Given the description of an element on the screen output the (x, y) to click on. 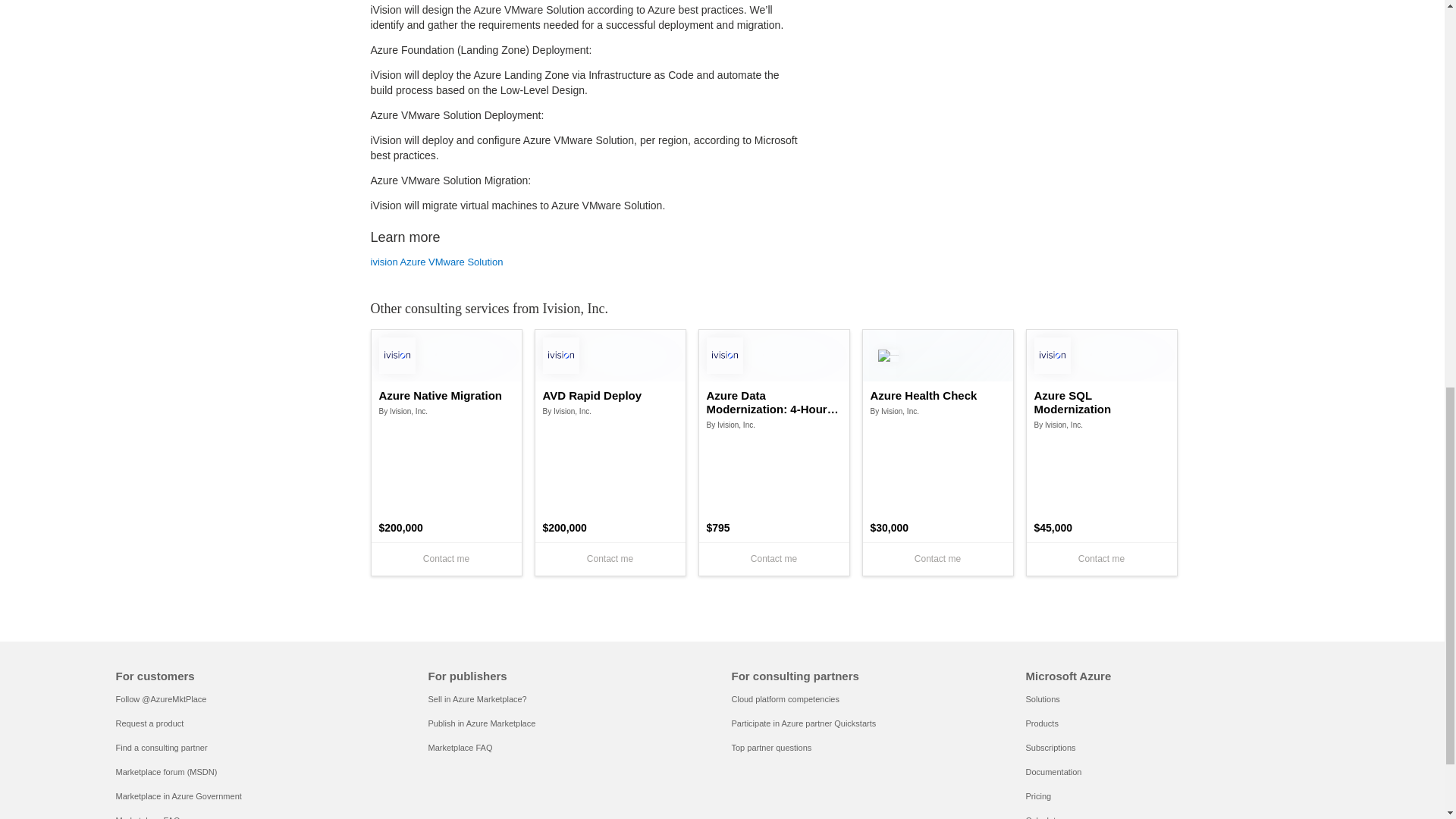
Azure SQL Modernization (1101, 402)
Azure Data Modernization: 4-Hour Workshop (773, 402)
AVD Rapid Deploy (610, 395)
Azure Native Migration (445, 395)
Azure Health Check (938, 395)
